Given the description of an element on the screen output the (x, y) to click on. 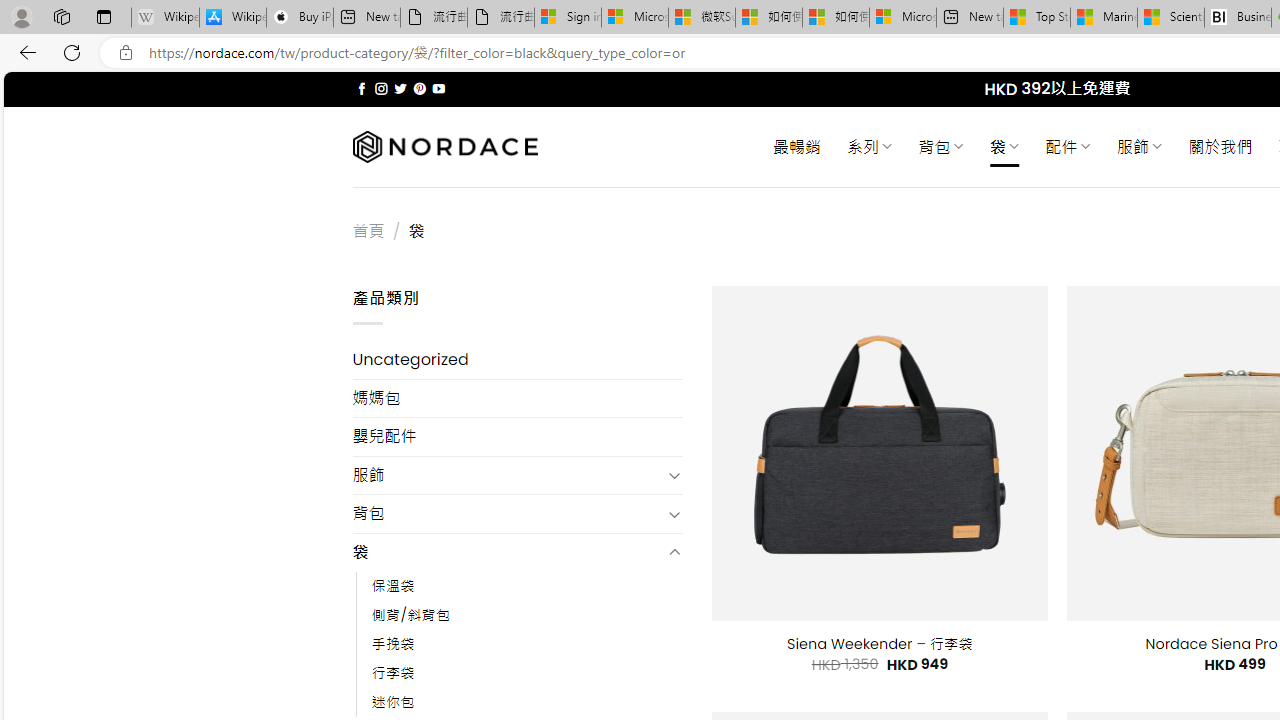
Uncategorized (517, 359)
Follow on Pinterest (419, 88)
